Given the description of an element on the screen output the (x, y) to click on. 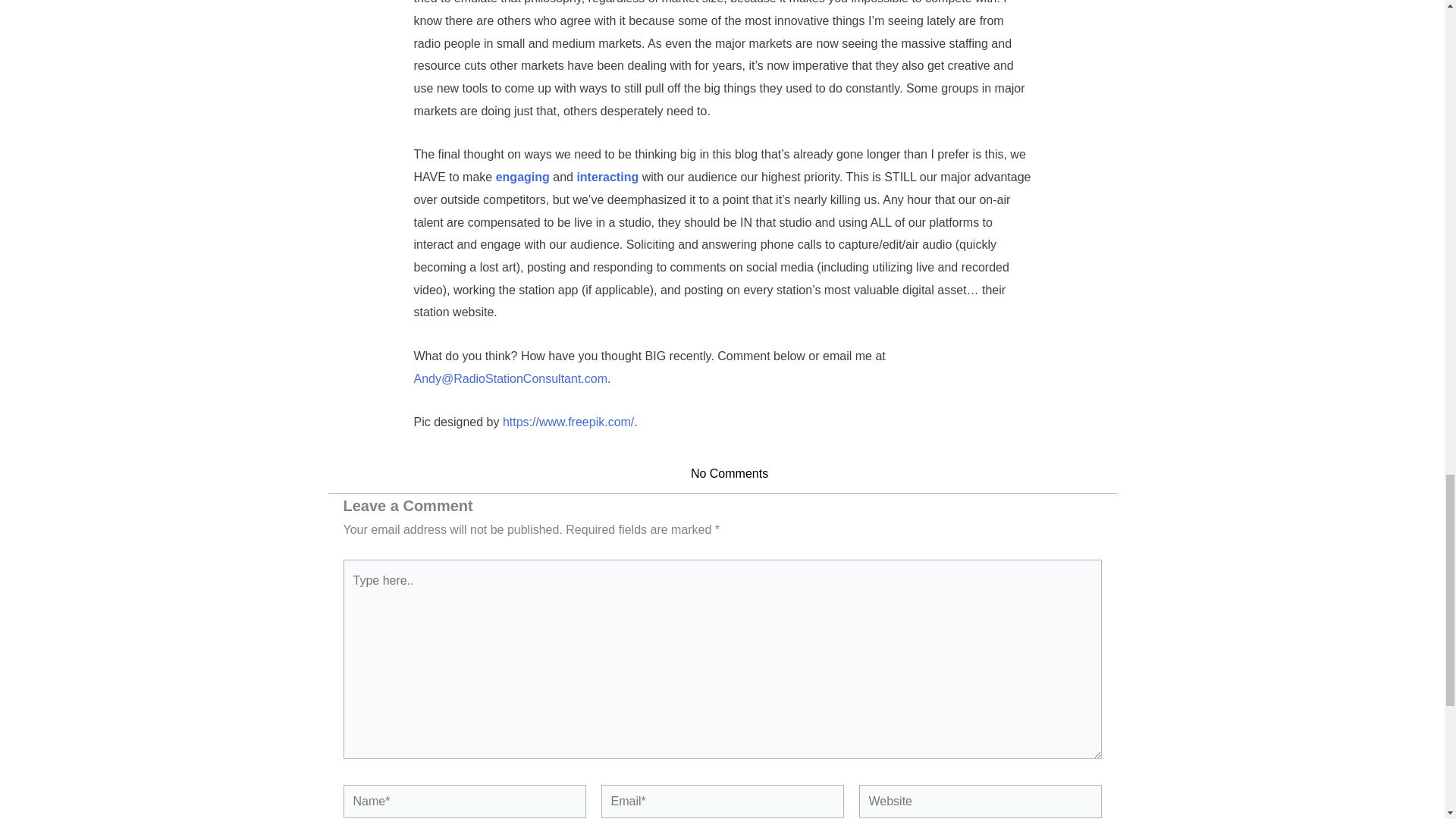
engaging (523, 176)
No Comments (722, 473)
interacting (607, 176)
